Given the description of an element on the screen output the (x, y) to click on. 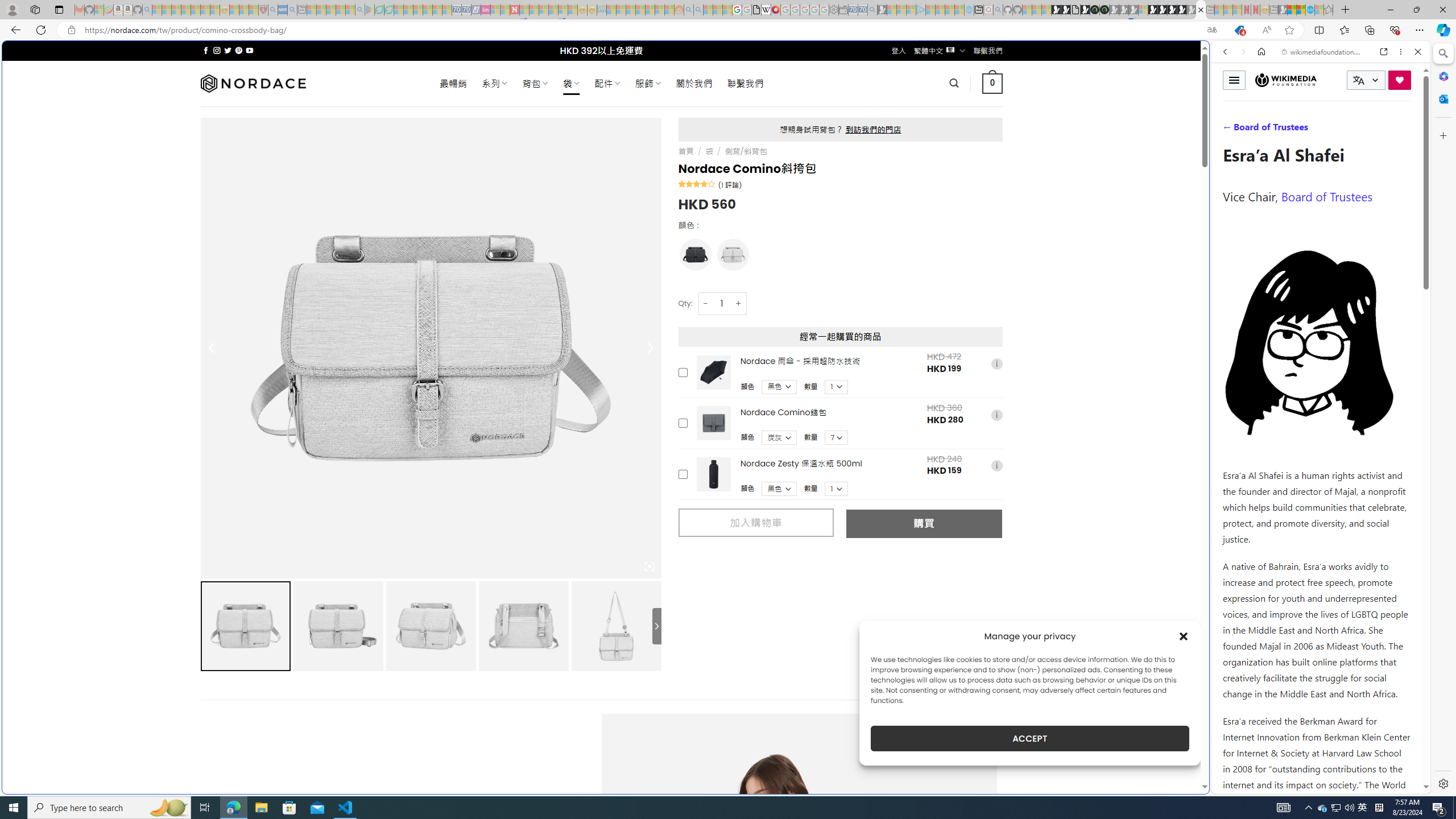
Earth has six continents not seven, radical new study claims (1300, 9)
Follow on Twitter (227, 50)
